Given the description of an element on the screen output the (x, y) to click on. 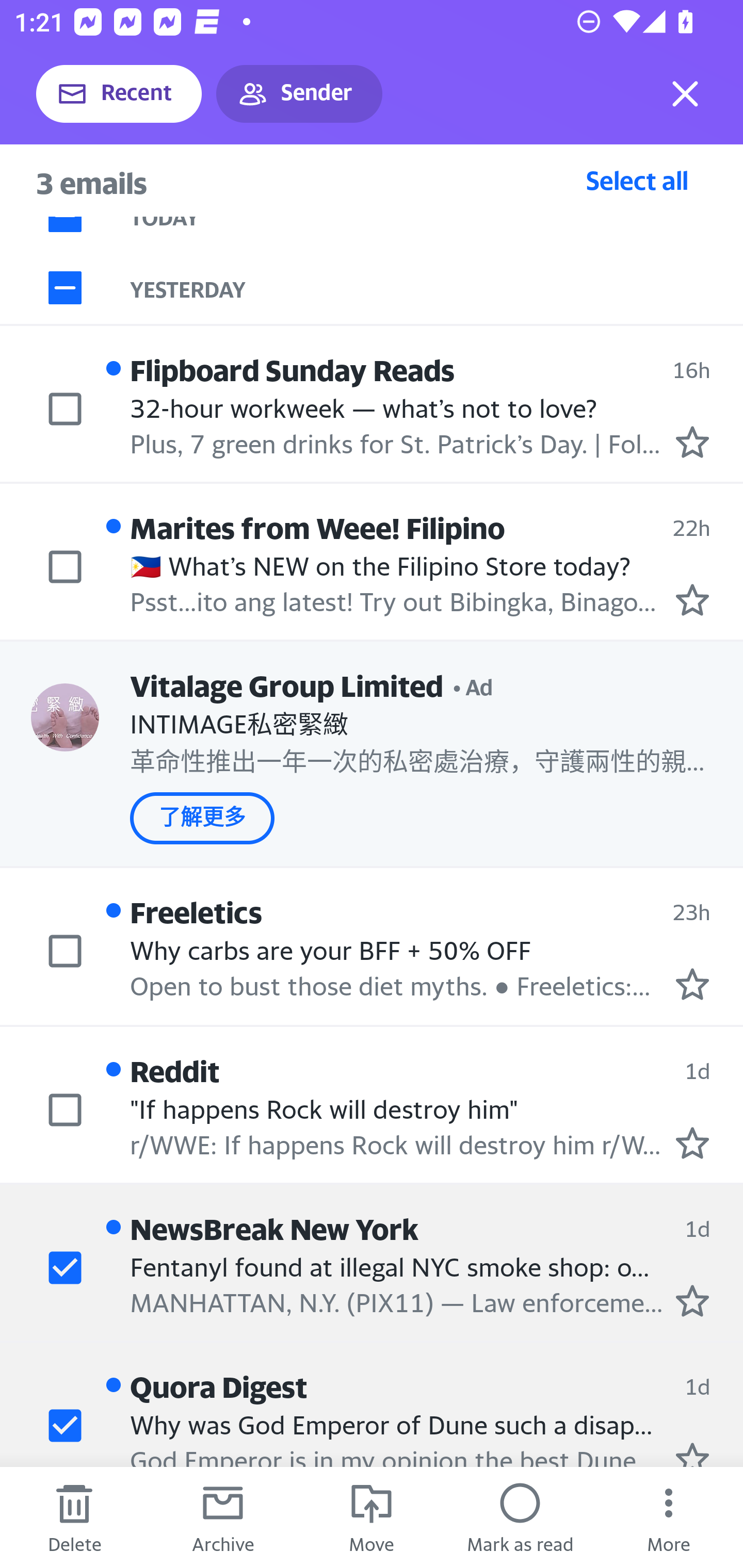
Sender (299, 93)
Exit selection mode (684, 93)
Select all (637, 180)
YESTERDAY (436, 287)
Mark as starred. (692, 441)
Mark as starred. (692, 599)
Mark as starred. (692, 983)
Mark as starred. (692, 1142)
Mark as starred. (692, 1300)
Mark as starred. (692, 1453)
Delete (74, 1517)
Archive (222, 1517)
Move (371, 1517)
Mark as read (519, 1517)
More (668, 1517)
